Given the description of an element on the screen output the (x, y) to click on. 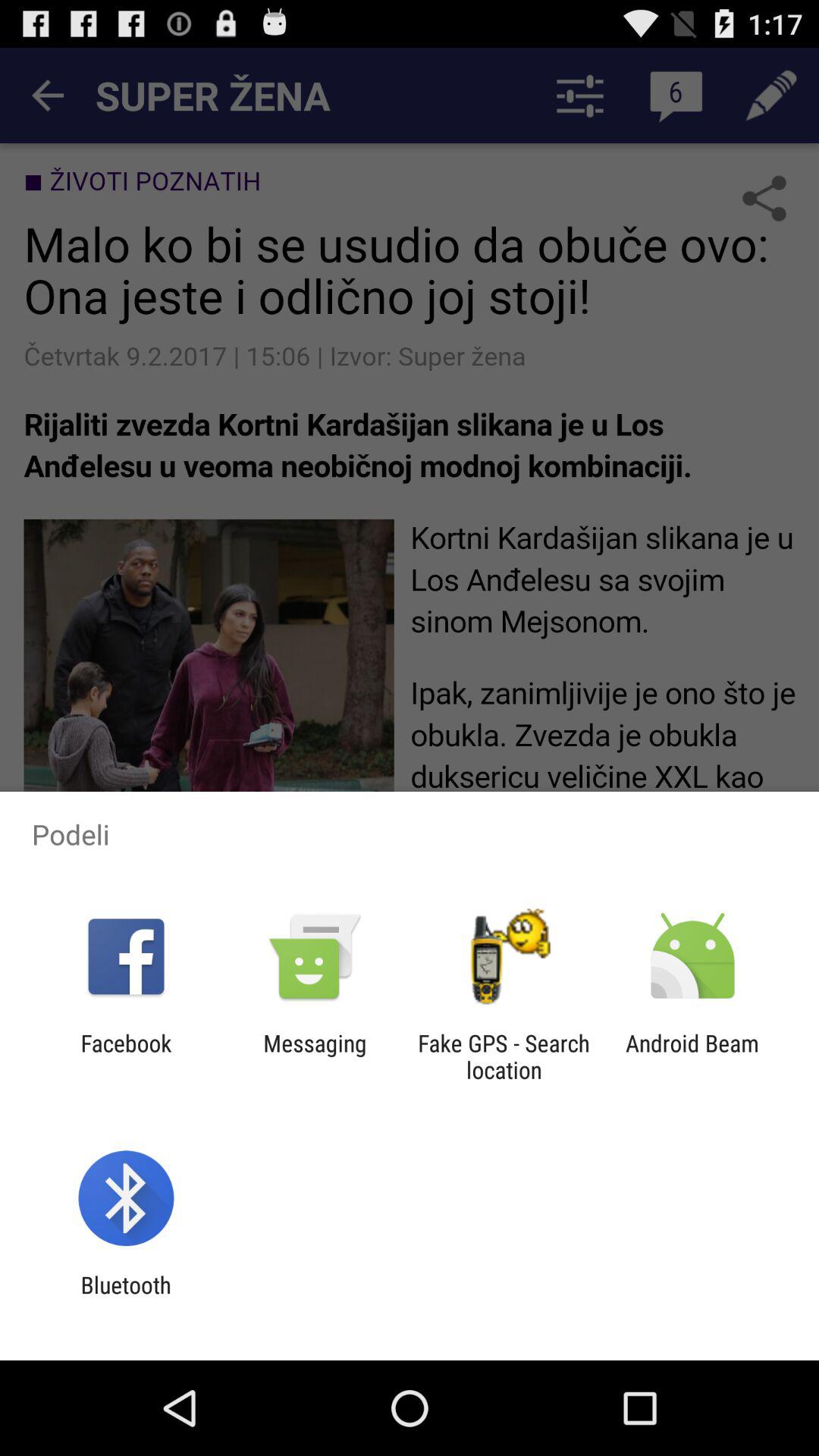
select bluetooth app (125, 1298)
